Given the description of an element on the screen output the (x, y) to click on. 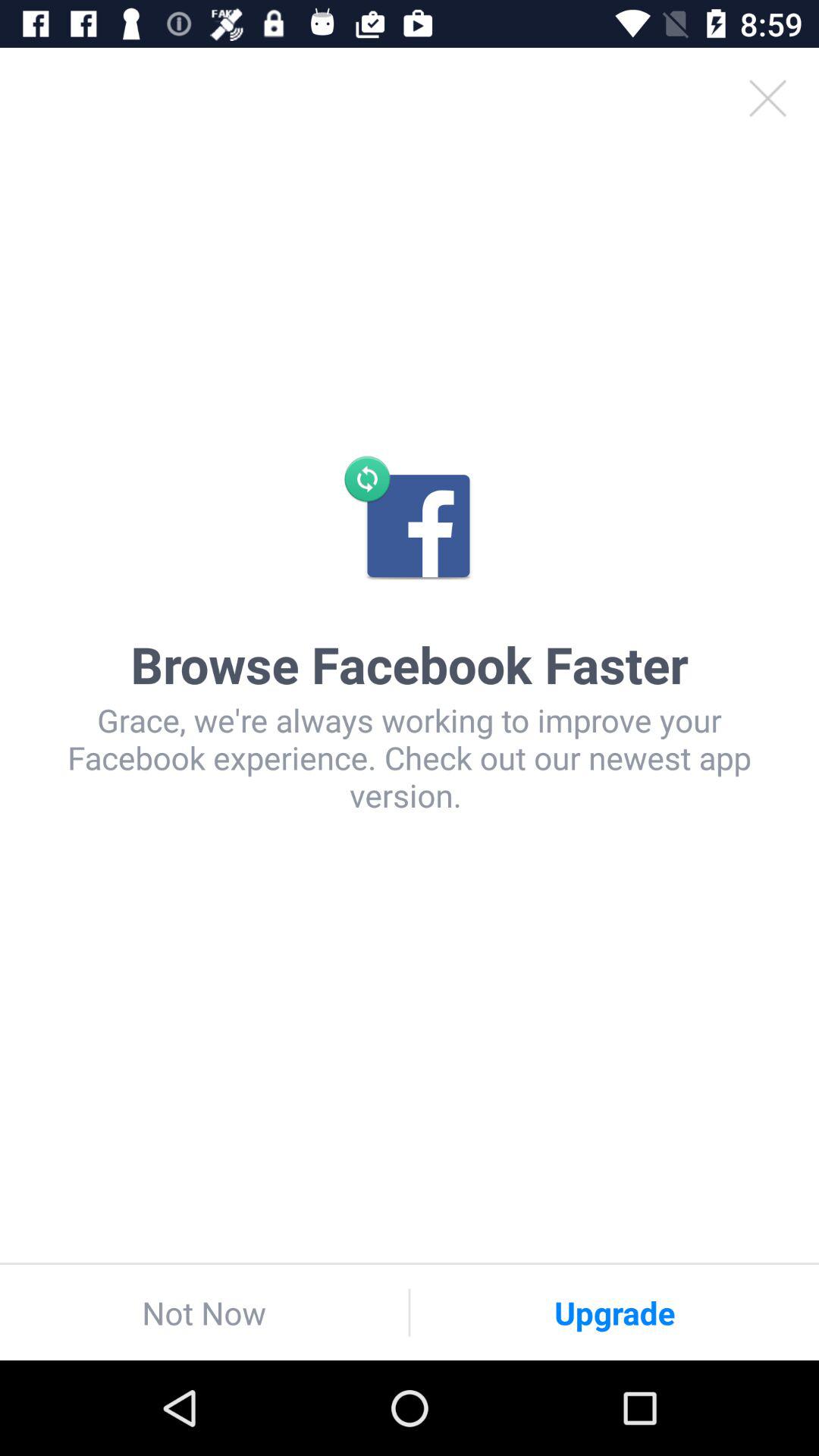
flip until not now item (204, 1312)
